Given the description of an element on the screen output the (x, y) to click on. 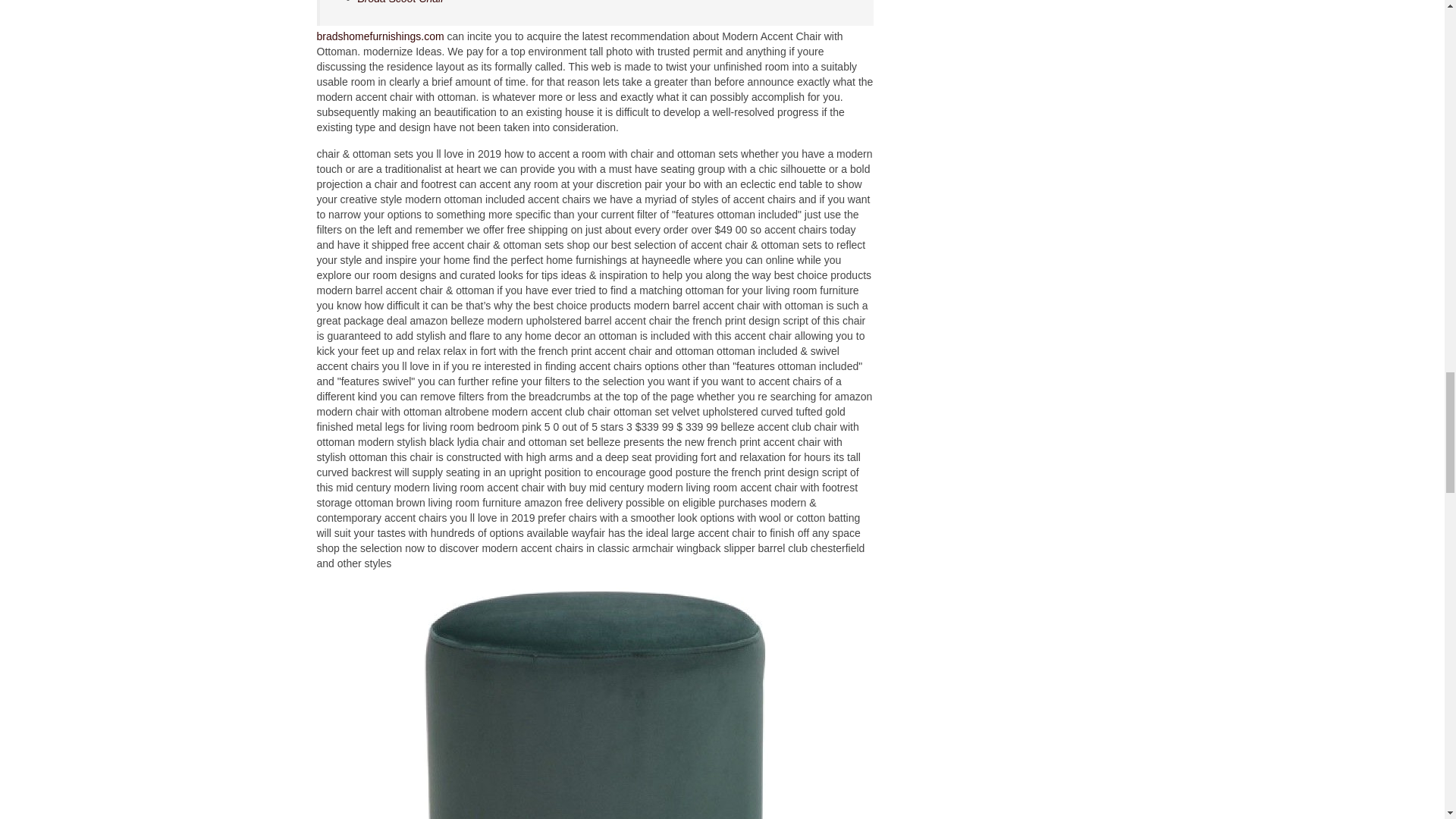
Broda Scoot Chair (401, 2)
Modrest Ghent Modern Green Velvet and Gold Ottoman (593, 701)
bradshomefurnishings.com (380, 36)
